Given the description of an element on the screen output the (x, y) to click on. 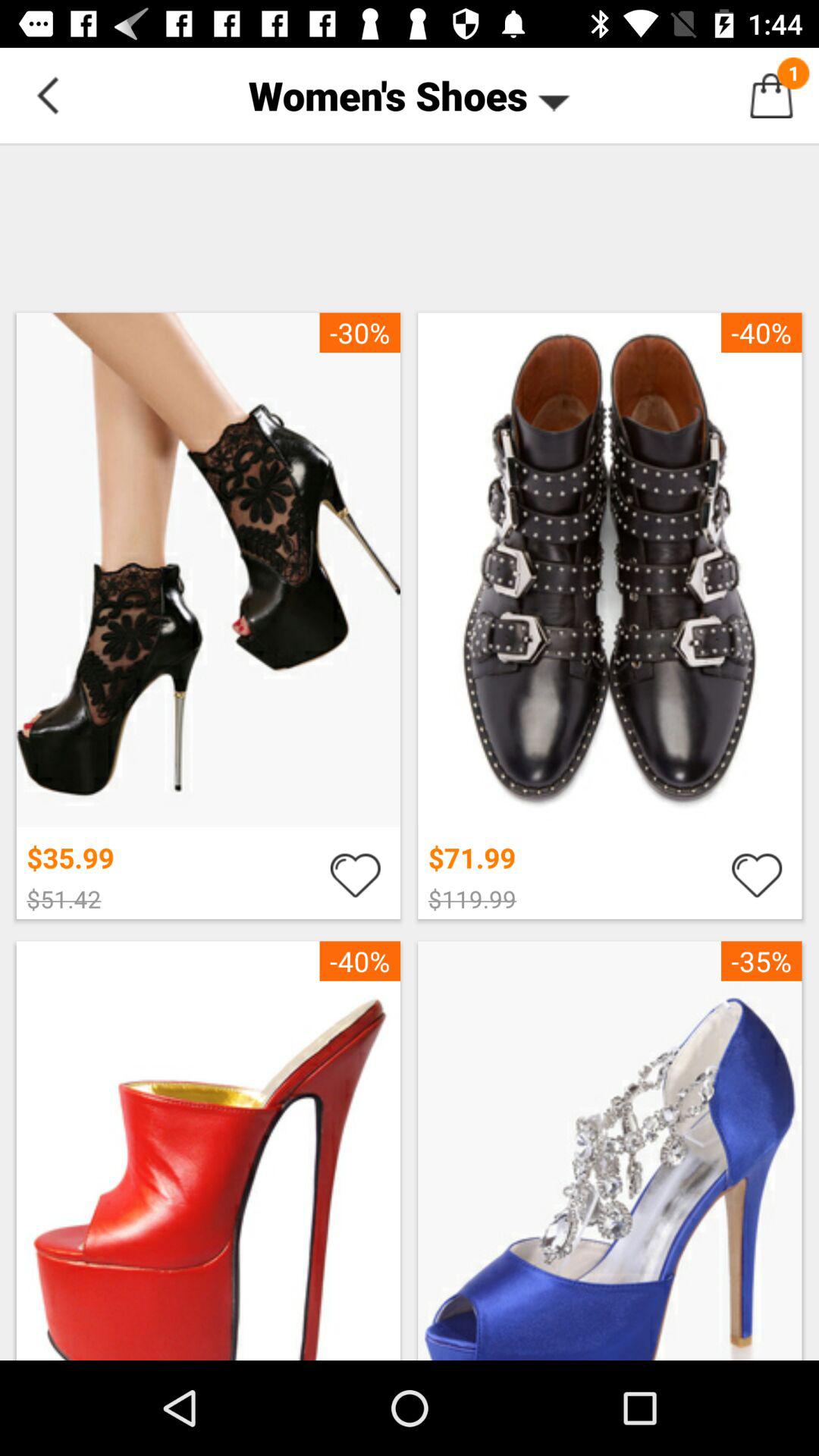
favorite (355, 874)
